Given the description of an element on the screen output the (x, y) to click on. 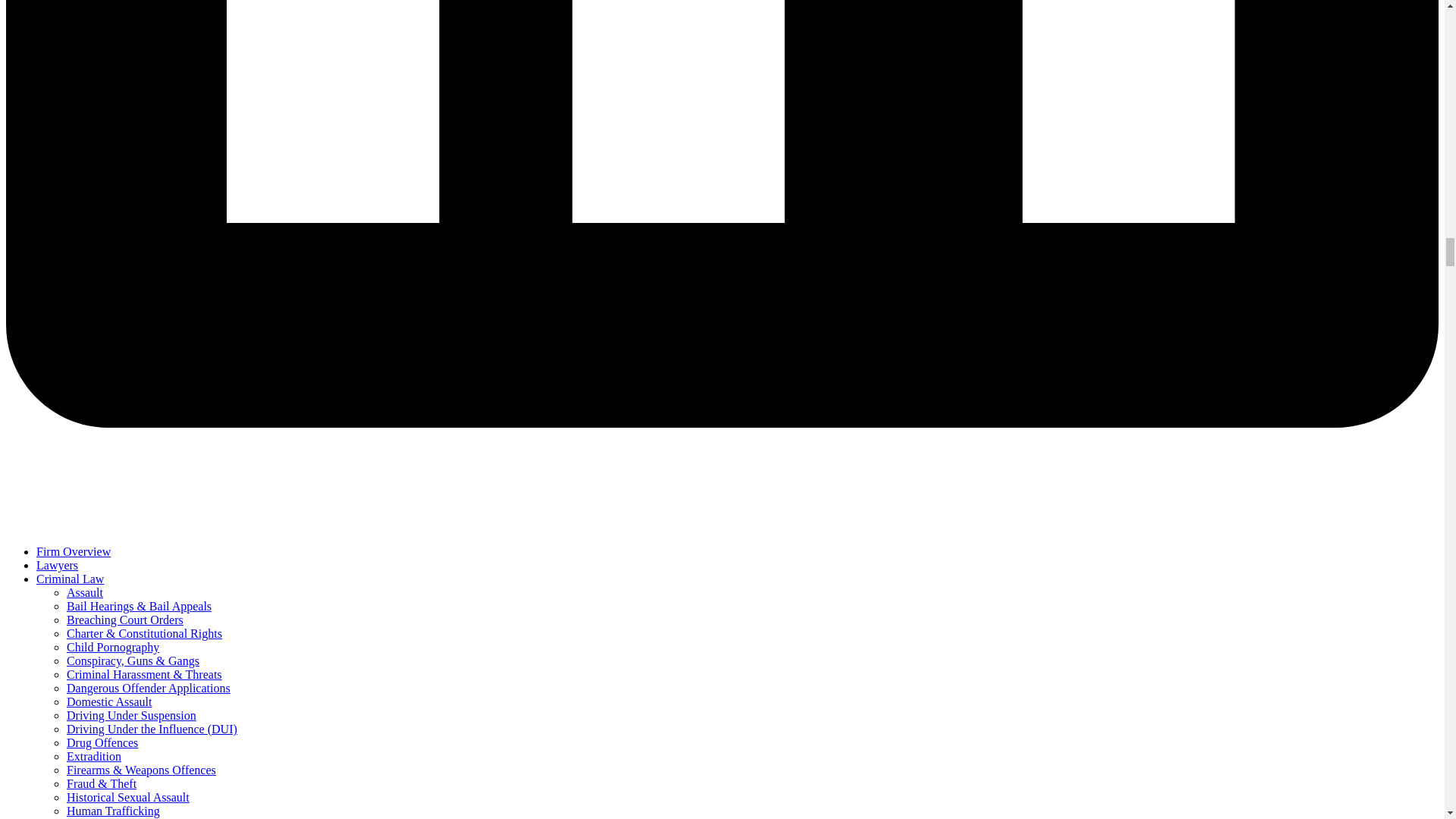
Breaching Court Orders (124, 619)
Domestic Assault (108, 701)
Identity Theft (99, 818)
Driving Under Suspension (131, 715)
Extradition (93, 756)
Drug Offences (102, 742)
Firm Overview (73, 551)
Criminal Law (69, 578)
Lawyers (57, 564)
Human Trafficking (113, 810)
Historical Sexual Assault (127, 797)
Child Pornography (112, 646)
Assault (84, 592)
Dangerous Offender Applications (148, 687)
